Given the description of an element on the screen output the (x, y) to click on. 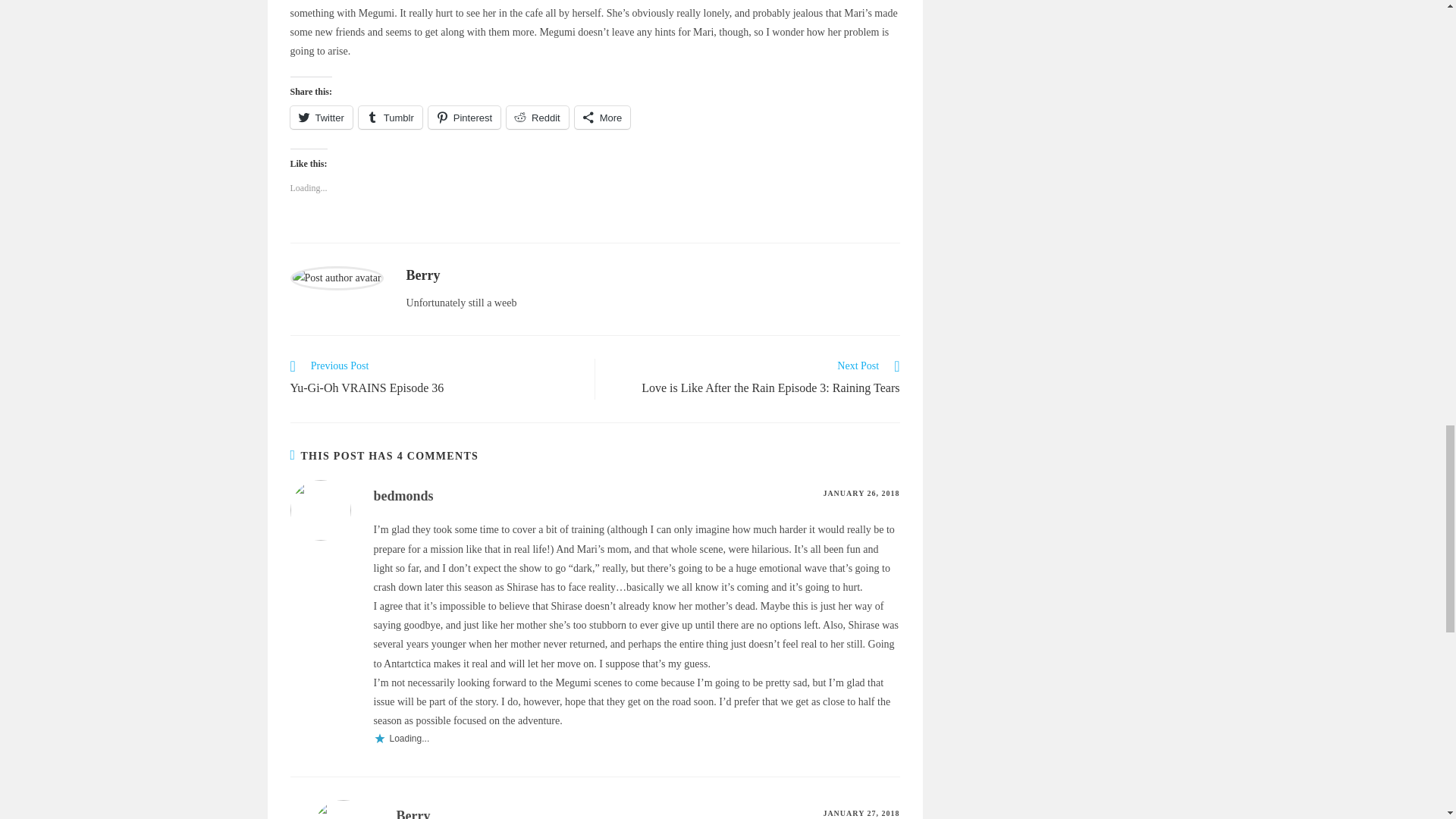
Click to share on Reddit (537, 117)
Click to share on Tumblr (390, 117)
Click to share on Pinterest (464, 117)
Visit author page (423, 274)
Visit author page (335, 276)
Click to share on Twitter (320, 117)
